Given the description of an element on the screen output the (x, y) to click on. 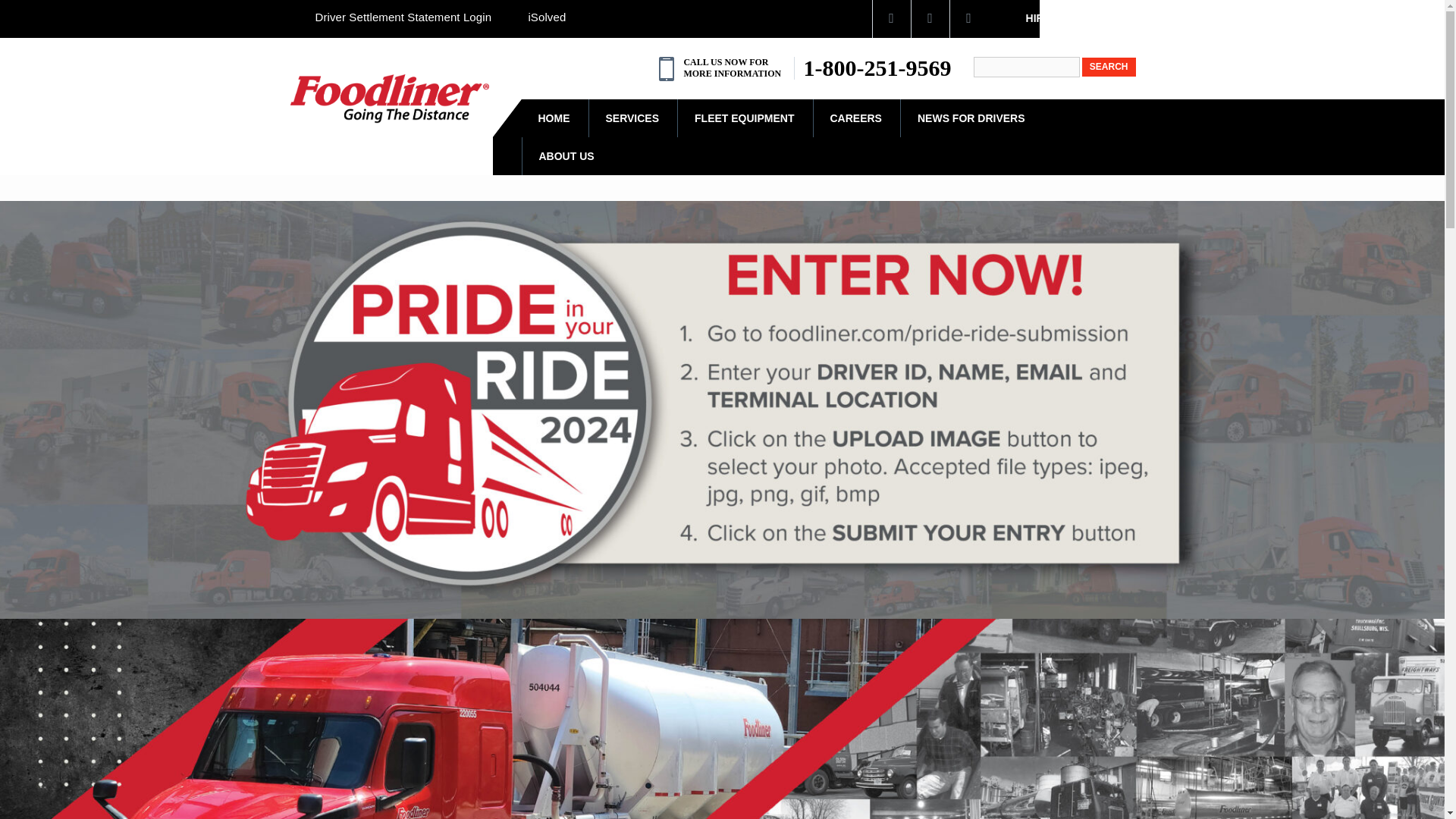
Search (1108, 66)
Instagram (968, 18)
Foodliner (389, 99)
HOME (554, 118)
SERVICES (632, 118)
Search (1108, 66)
Search (1108, 66)
Driver Settlement Statement Login (403, 16)
HIRING DRIVERS! (1070, 18)
iSolved (546, 16)
FLEET EQUIPMENT (745, 118)
CAREERS (855, 118)
ABOUT US (566, 156)
NEWS FOR DRIVERS (972, 118)
1-800-251-9569 (877, 67)
